Given the description of an element on the screen output the (x, y) to click on. 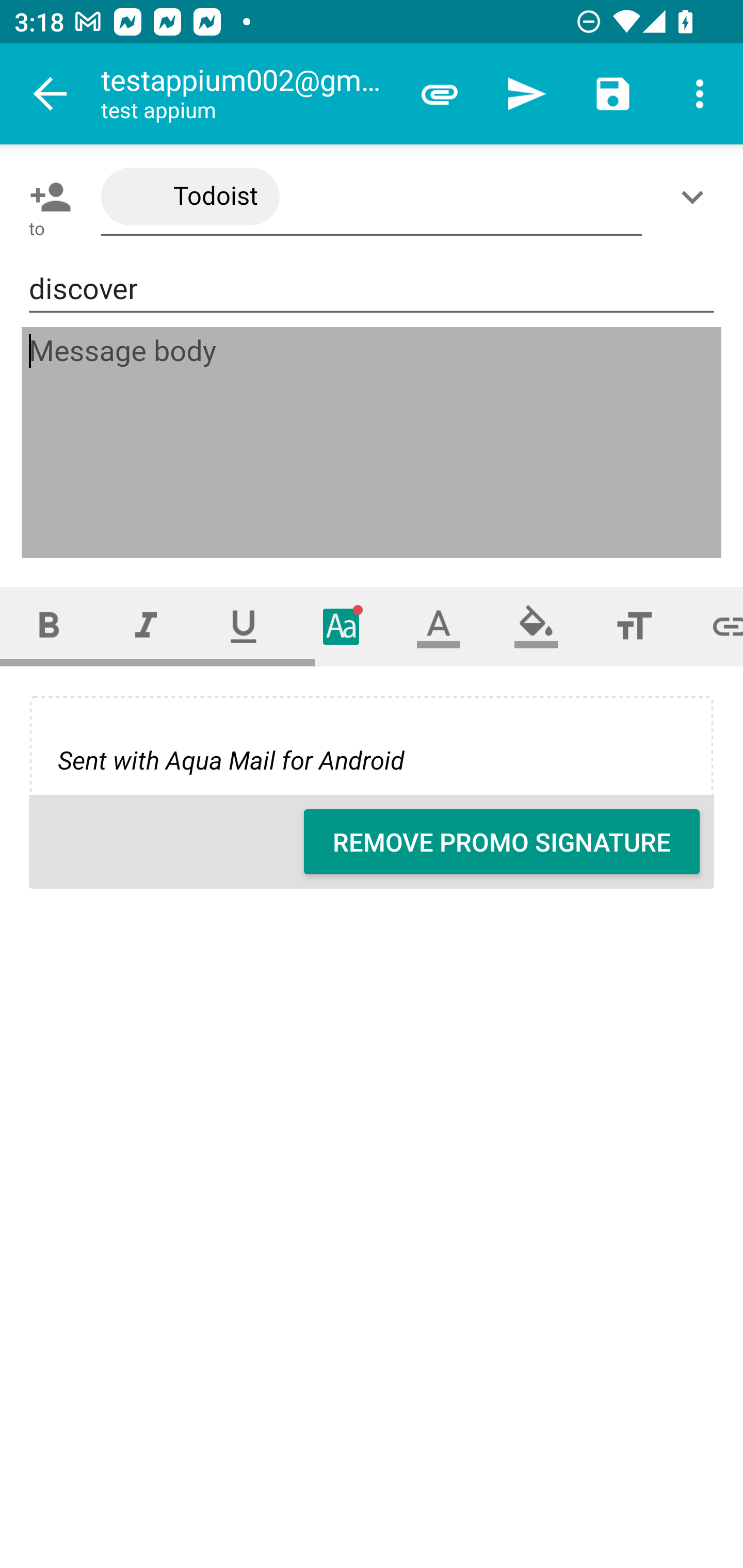
Navigate up (50, 93)
testappium002@gmail.com test appium (248, 93)
Attach (439, 93)
Send (525, 93)
Save (612, 93)
More options (699, 93)
Todoist <no-reply@todoist.com>,  (371, 197)
Pick contact: To (46, 196)
Show/Add CC/BCC (696, 196)
discover (371, 288)
Message body (372, 442)
Bold (48, 626)
Italic (145, 626)
Underline (243, 626)
Typeface (font) (341, 626)
Text color (438, 626)
Fill color (536, 626)
Font size (633, 626)
REMOVE PROMO SIGNATURE (501, 841)
